Given the description of an element on the screen output the (x, y) to click on. 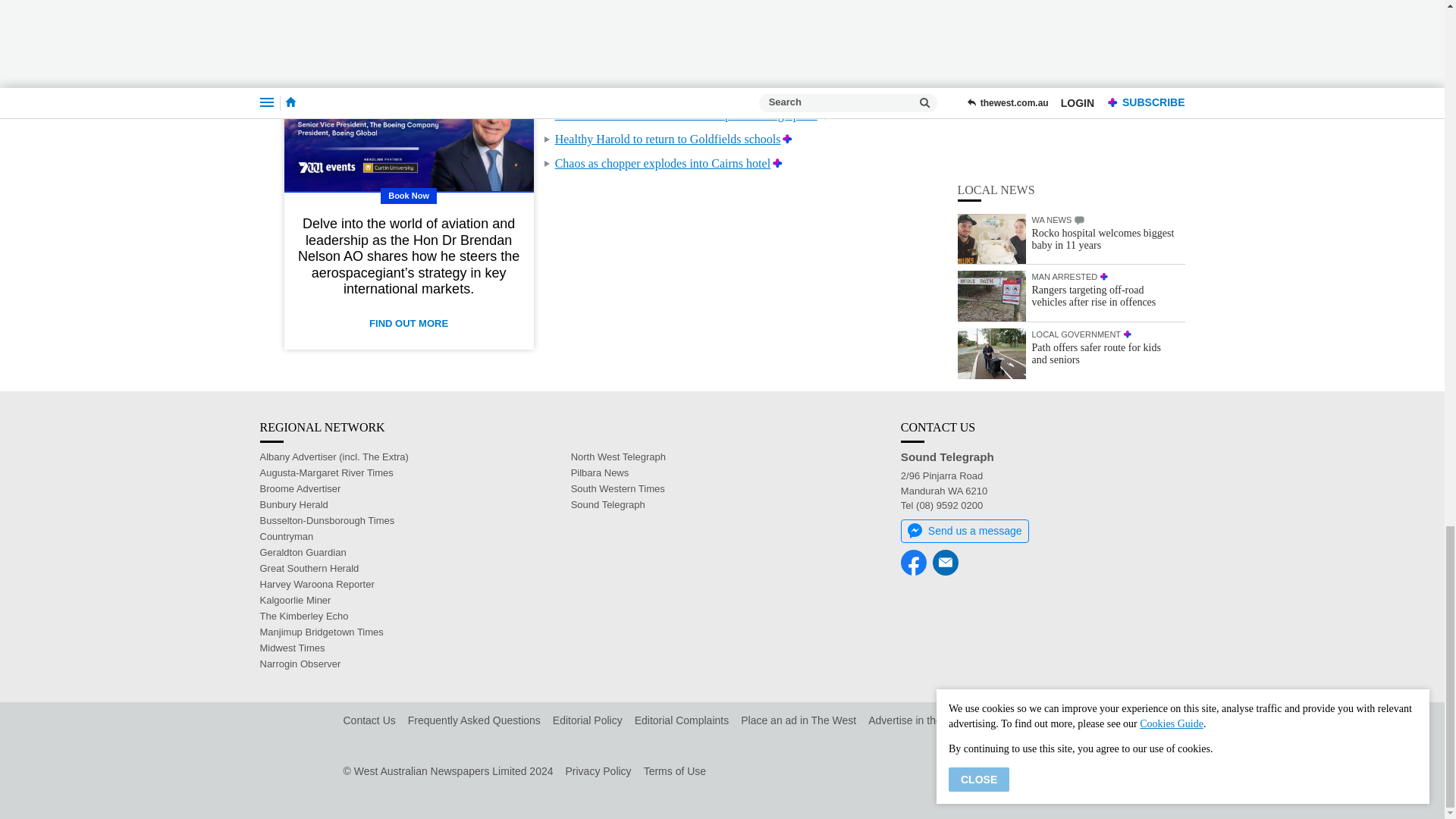
Premium (824, 114)
Premium (837, 65)
Premium (786, 138)
Premium (777, 163)
Premium (849, 42)
